Given the description of an element on the screen output the (x, y) to click on. 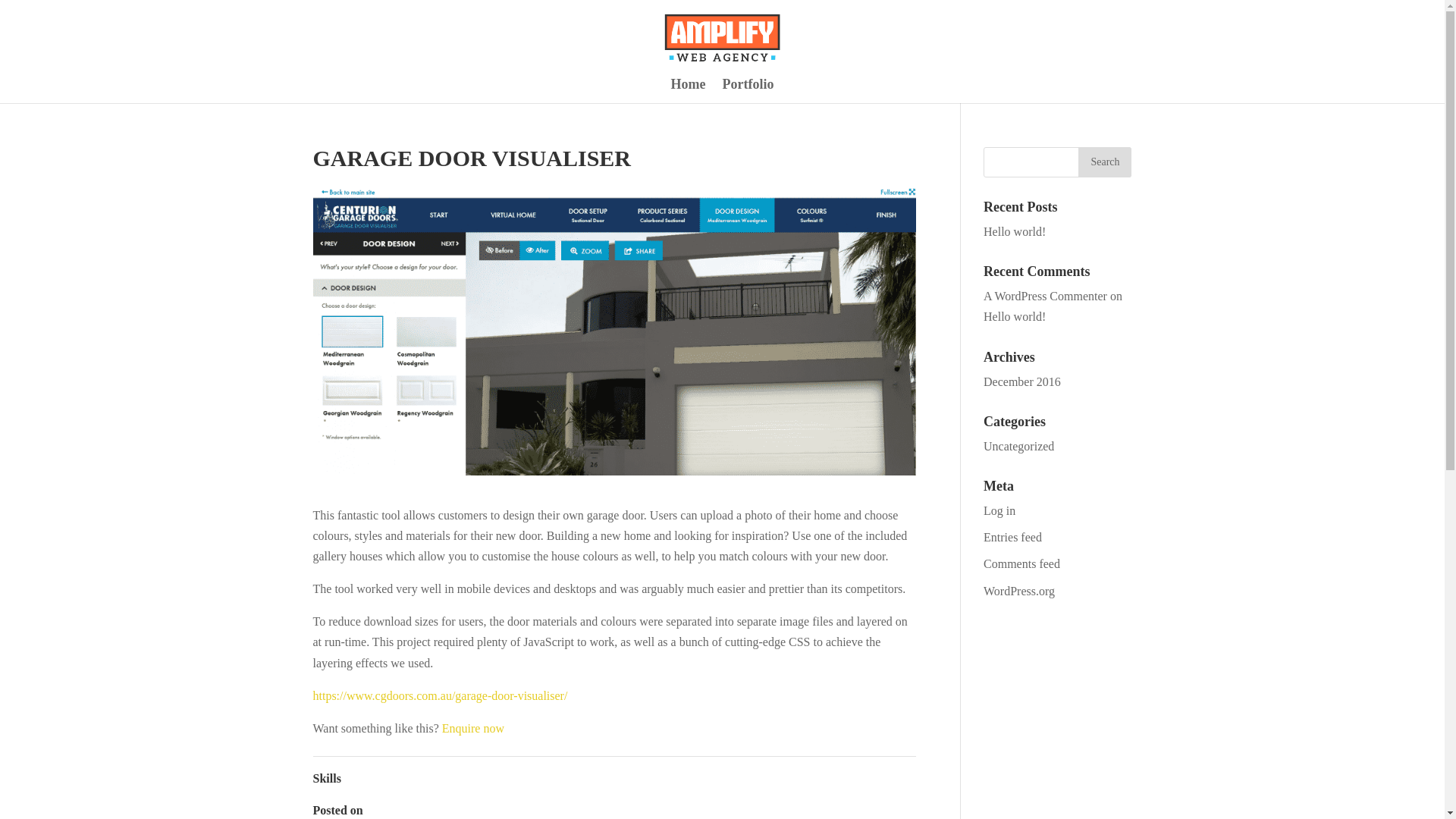
WordPress.org (1019, 590)
Search (1104, 162)
Search (1104, 162)
Home (688, 90)
Log in (999, 510)
December 2016 (1022, 381)
Portfolio (747, 90)
Entries feed (1013, 536)
Comments feed (1021, 563)
Hello world! (1014, 316)
A WordPress Commenter (1045, 295)
Uncategorized (1019, 445)
Enquire now (472, 727)
Hello world! (1014, 231)
